Given the description of an element on the screen output the (x, y) to click on. 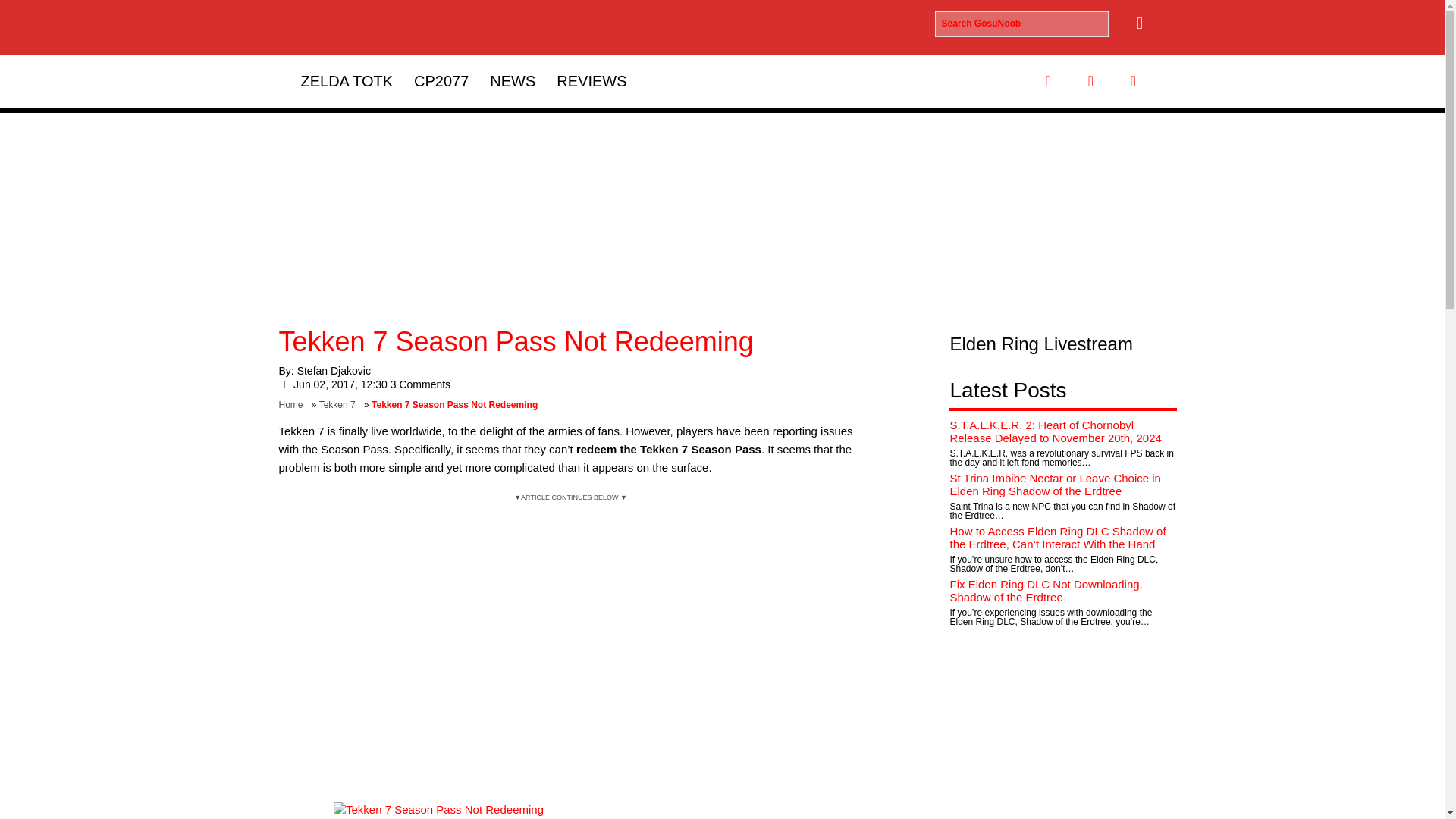
NEWS (512, 80)
Fix Elden Ring DLC Not Downloading, Shadow of the Erdtree (1045, 590)
CP2077 (441, 80)
ZELDA TOTK (346, 80)
Stefan Djakovic (334, 370)
Home (293, 404)
Tekken 7 (339, 404)
Cyberpunk 2077 (441, 80)
REVIEWS (591, 80)
3 Comments (419, 384)
Fix Elden Ring DLC Not Downloading, Shadow of the Erdtree (1045, 590)
